Given the description of an element on the screen output the (x, y) to click on. 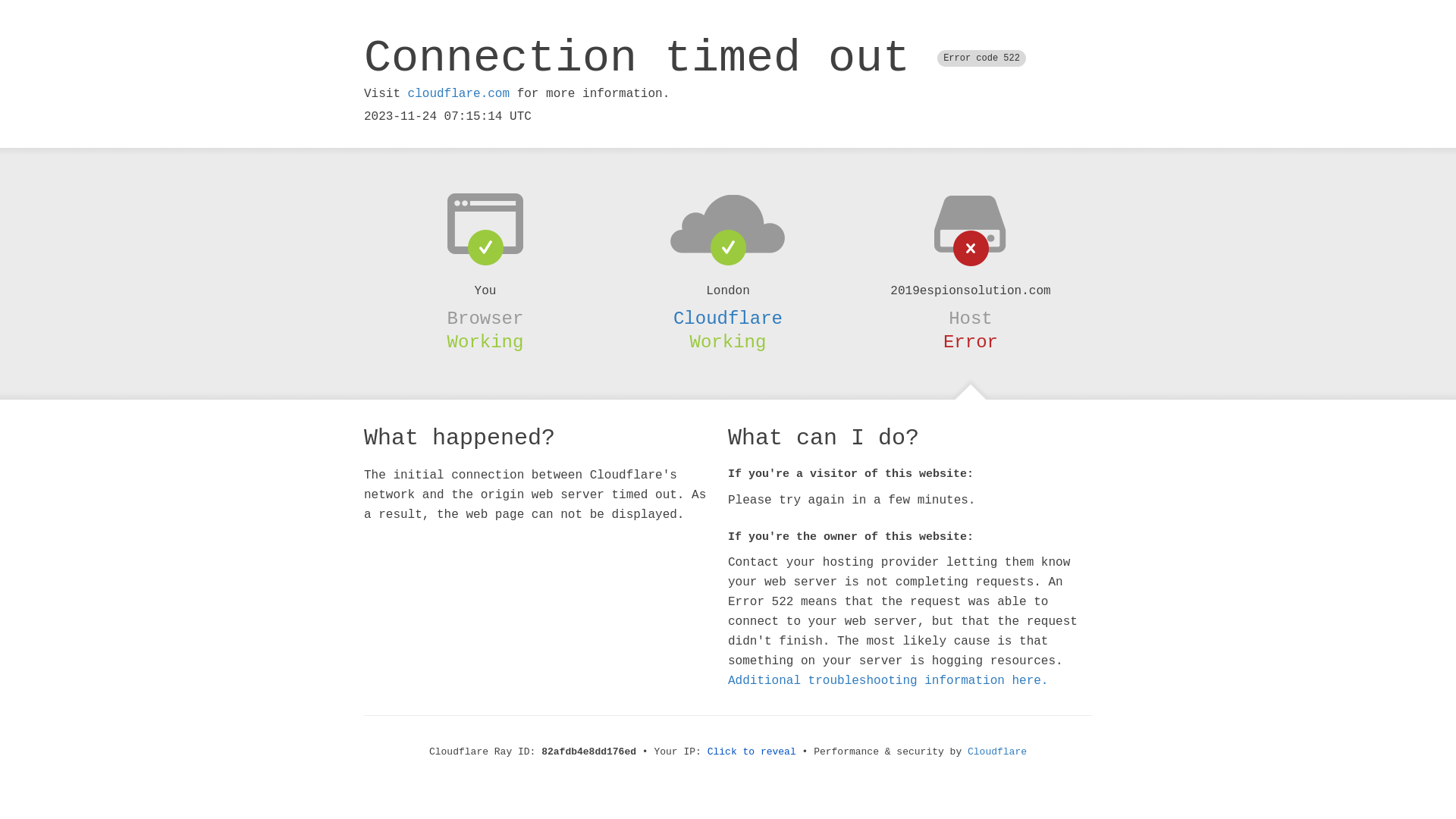
Cloudflare Element type: text (996, 751)
cloudflare.com Element type: text (458, 93)
Cloudflare Element type: text (727, 318)
Additional troubleshooting information here. Element type: text (888, 680)
Click to reveal Element type: text (751, 751)
